Given the description of an element on the screen output the (x, y) to click on. 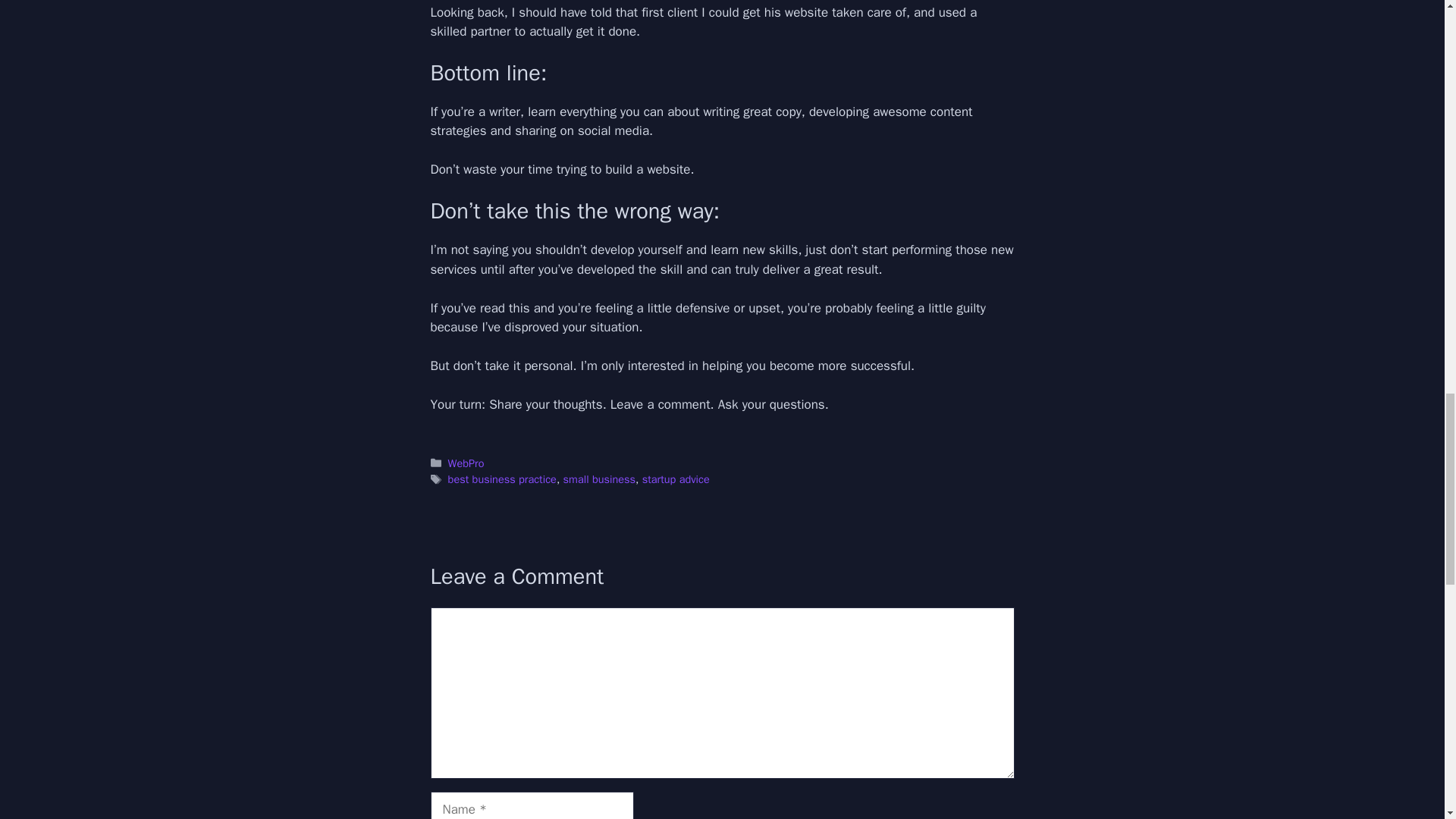
best business practice (502, 479)
WebPro (466, 463)
small business (598, 479)
